Given the description of an element on the screen output the (x, y) to click on. 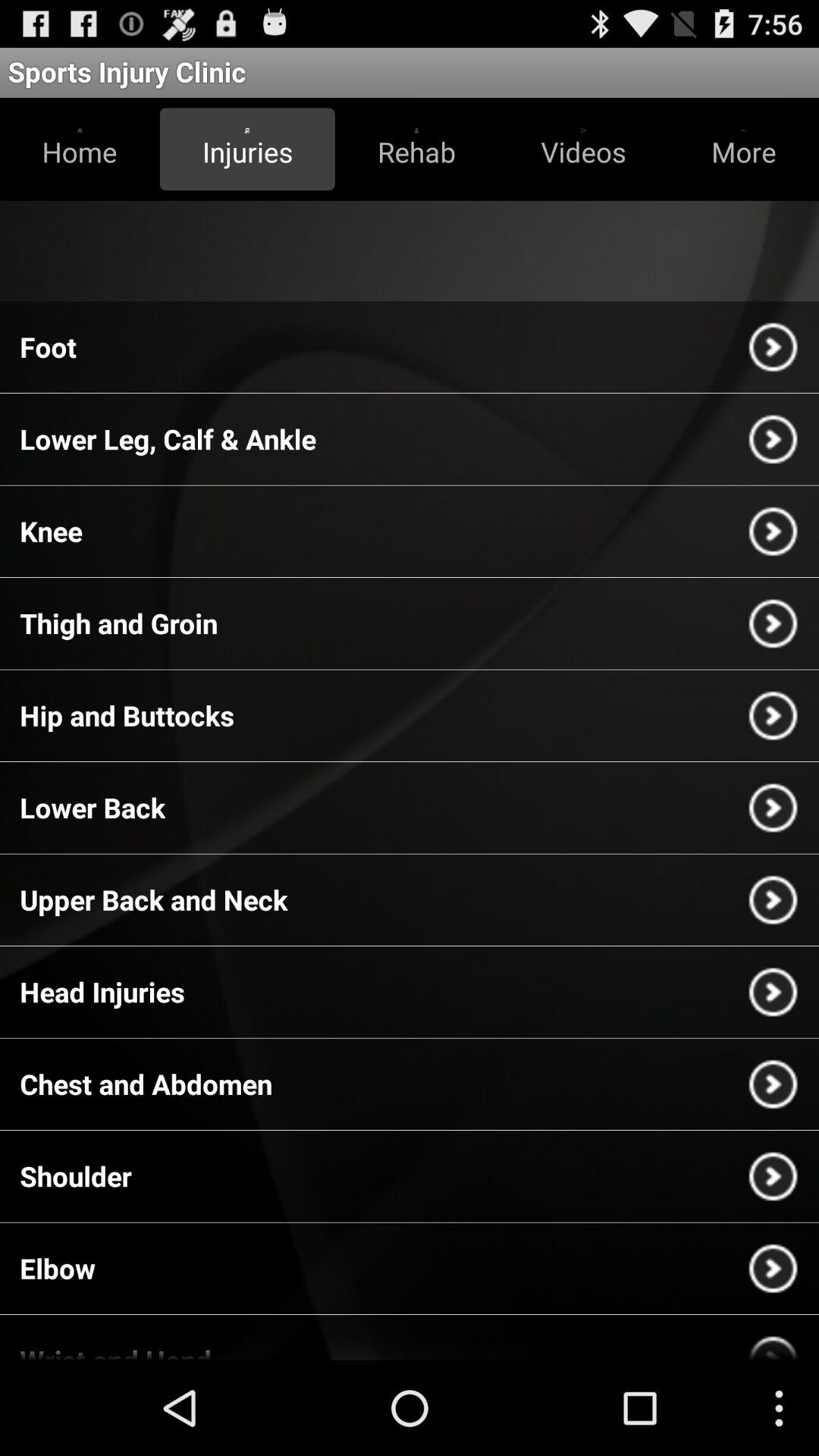
turn off the item to the right of thigh and groin (773, 623)
